Given the description of an element on the screen output the (x, y) to click on. 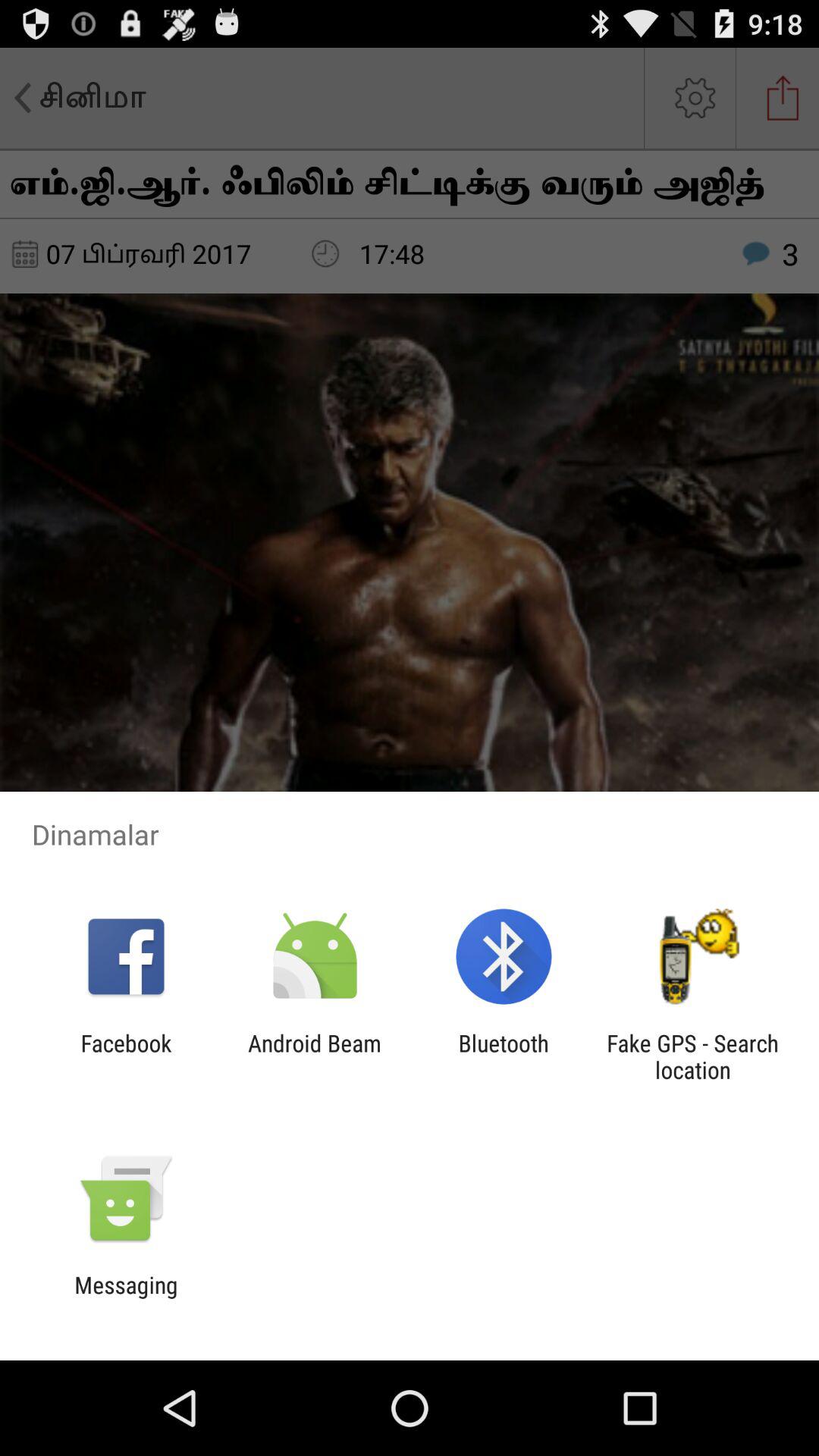
click facebook (125, 1056)
